Given the description of an element on the screen output the (x, y) to click on. 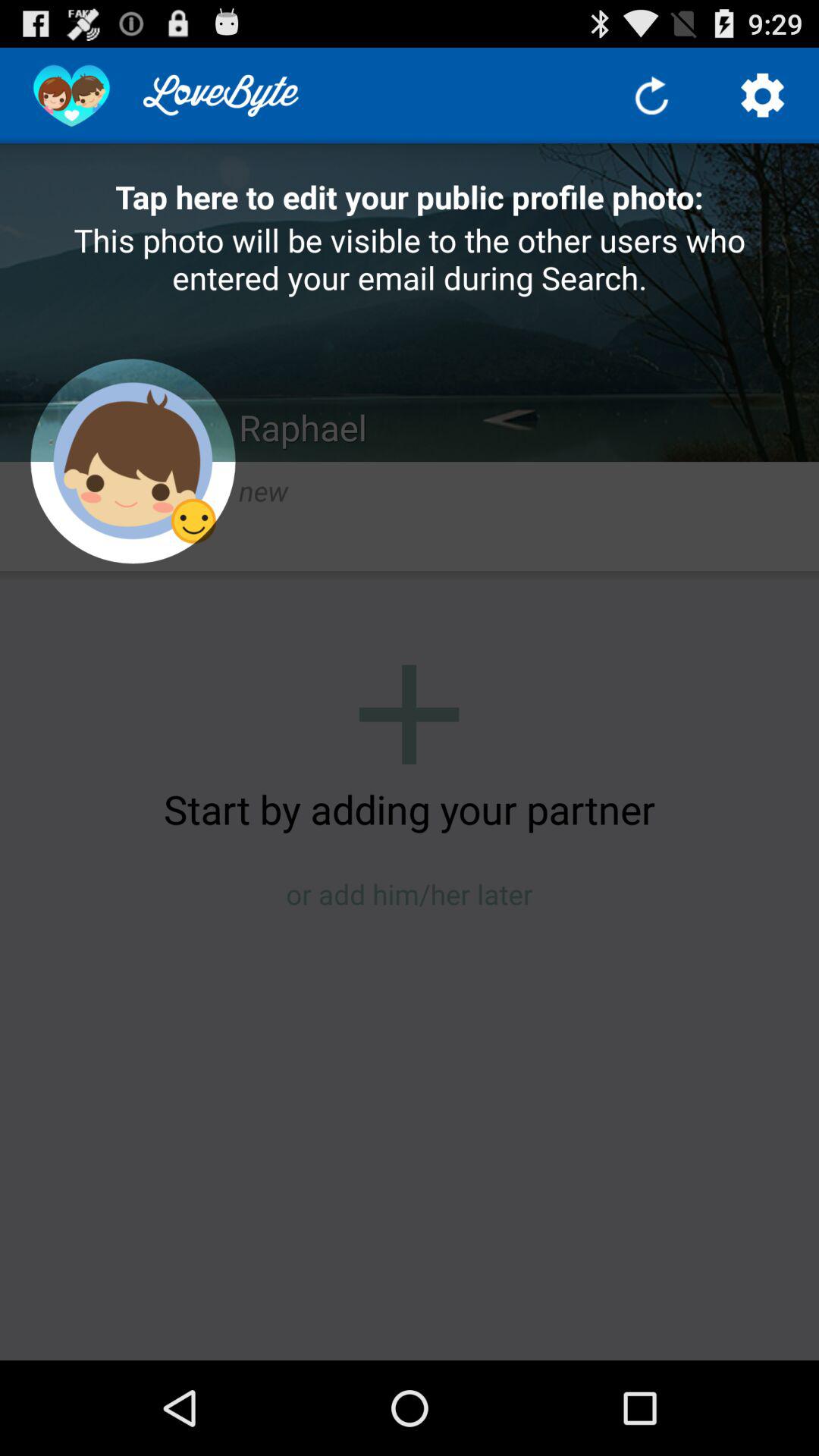
add button (408, 714)
